Given the description of an element on the screen output the (x, y) to click on. 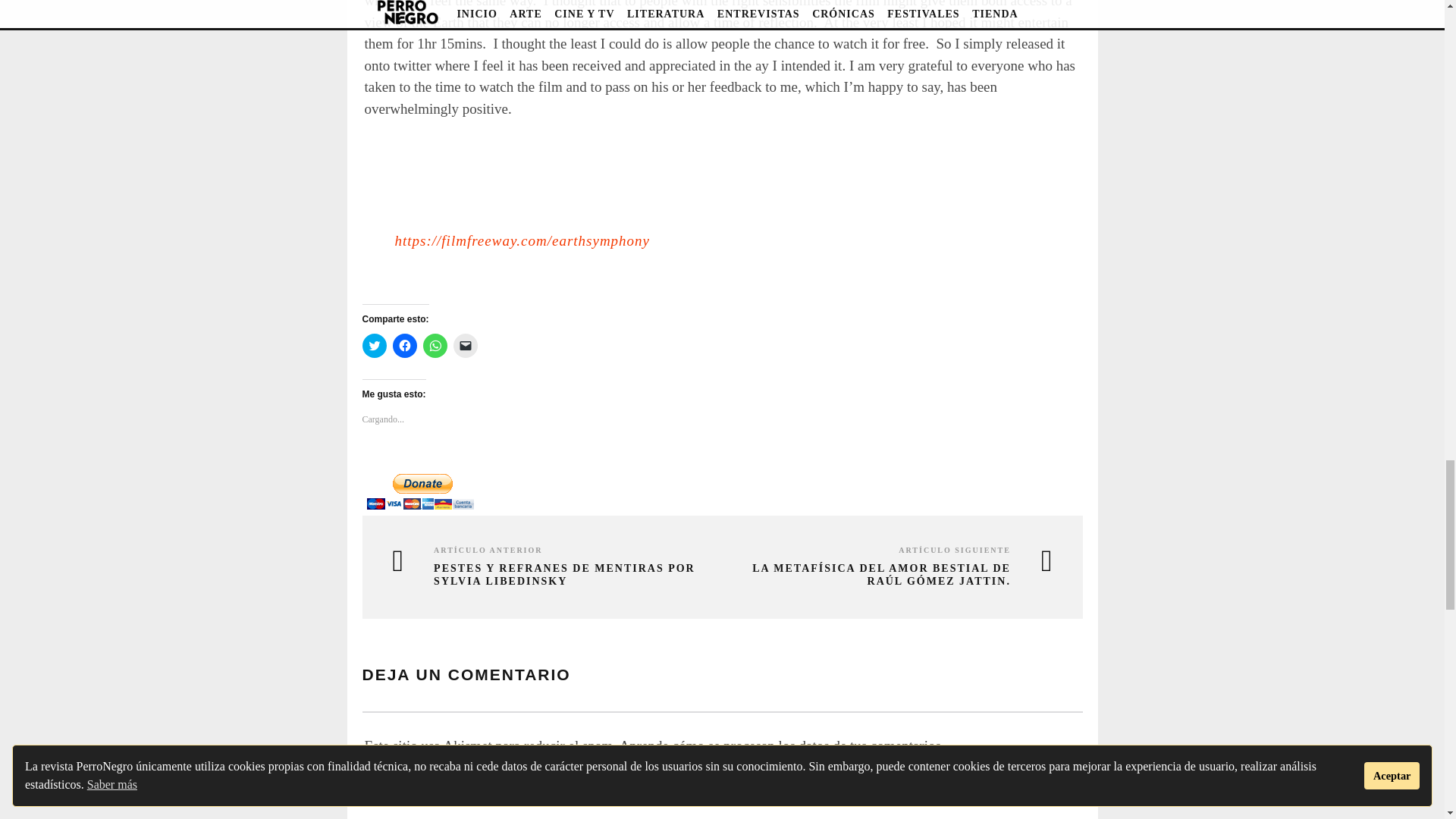
Haz clic para compartir en Twitter (374, 345)
Haz clic para compartir en Facebook (404, 345)
Haz clic para compartir en WhatsApp (434, 345)
PayPal - The safer, easier way to pay online! (419, 491)
